Given the description of an element on the screen output the (x, y) to click on. 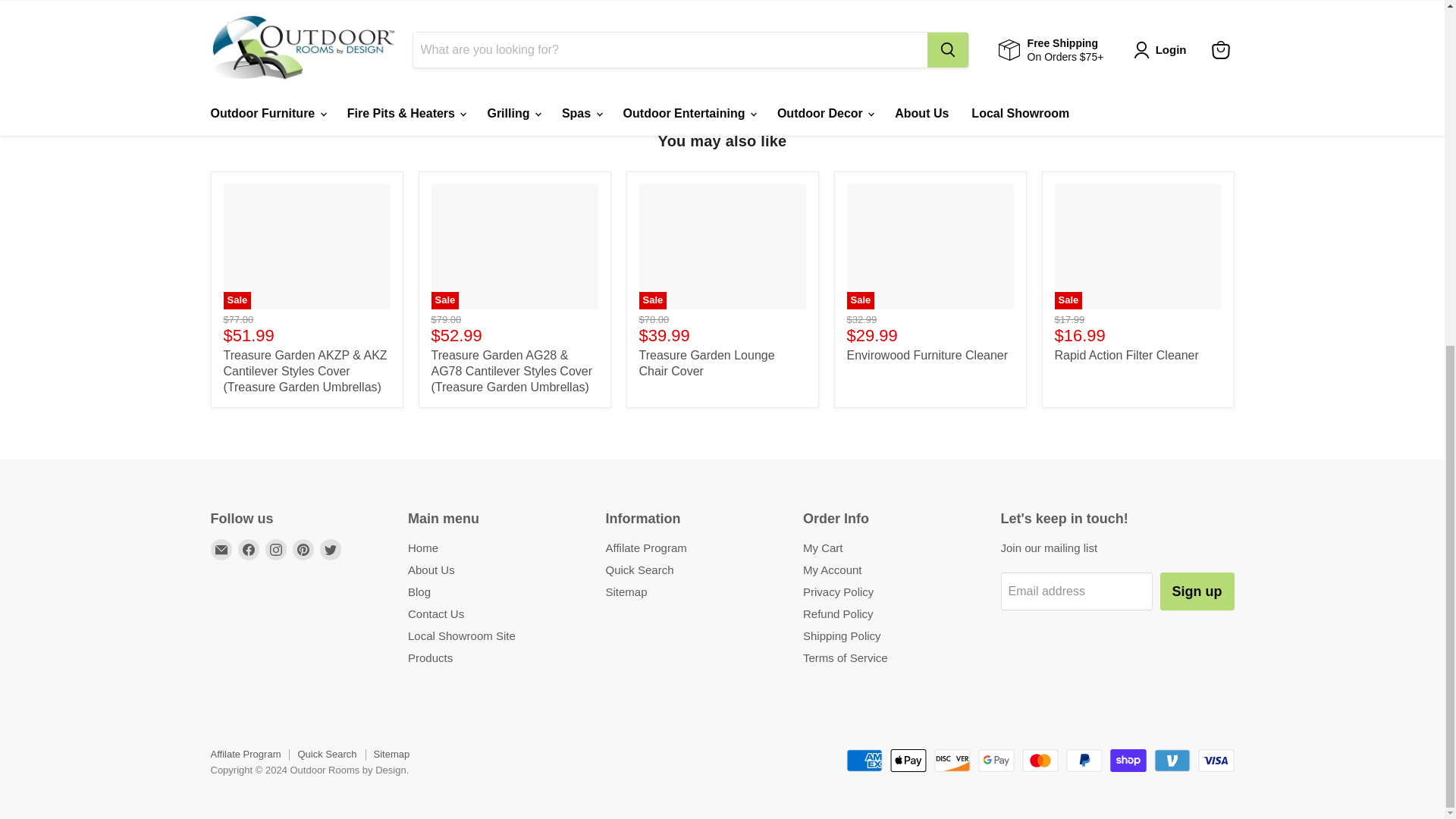
Email (221, 549)
Pinterest (303, 549)
Facebook (248, 549)
Instagram (275, 549)
Twitter (330, 549)
